Given the description of an element on the screen output the (x, y) to click on. 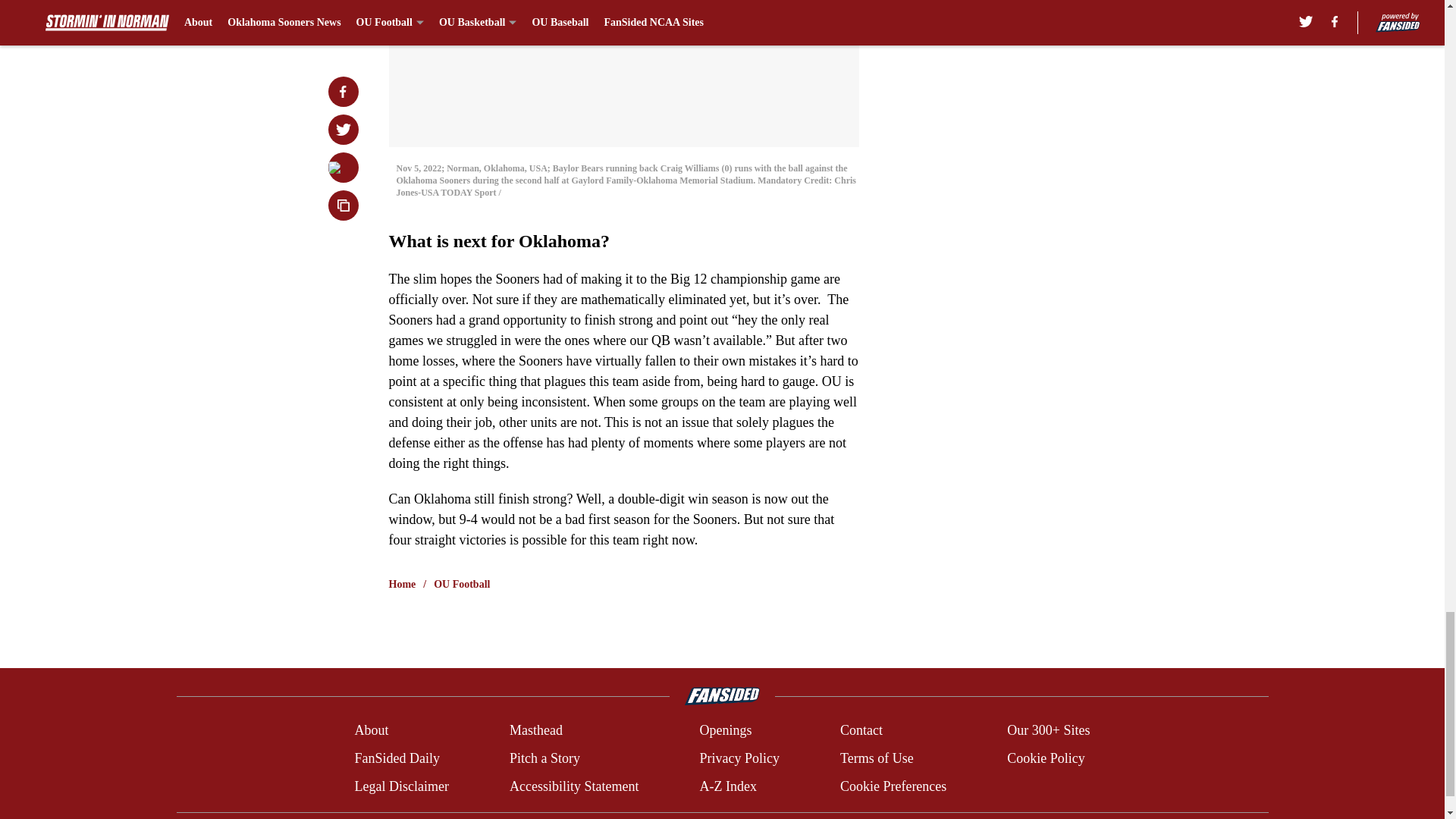
A-Z Index (726, 786)
Terms of Use (877, 758)
Accessibility Statement (574, 786)
About (370, 730)
Masthead (535, 730)
Legal Disclaimer (400, 786)
Privacy Policy (738, 758)
Openings (724, 730)
Contact (861, 730)
Pitch a Story (544, 758)
Home (401, 584)
FanSided Daily (396, 758)
Cookie Preferences (893, 786)
OU Football (461, 584)
Cookie Policy (1045, 758)
